Given the description of an element on the screen output the (x, y) to click on. 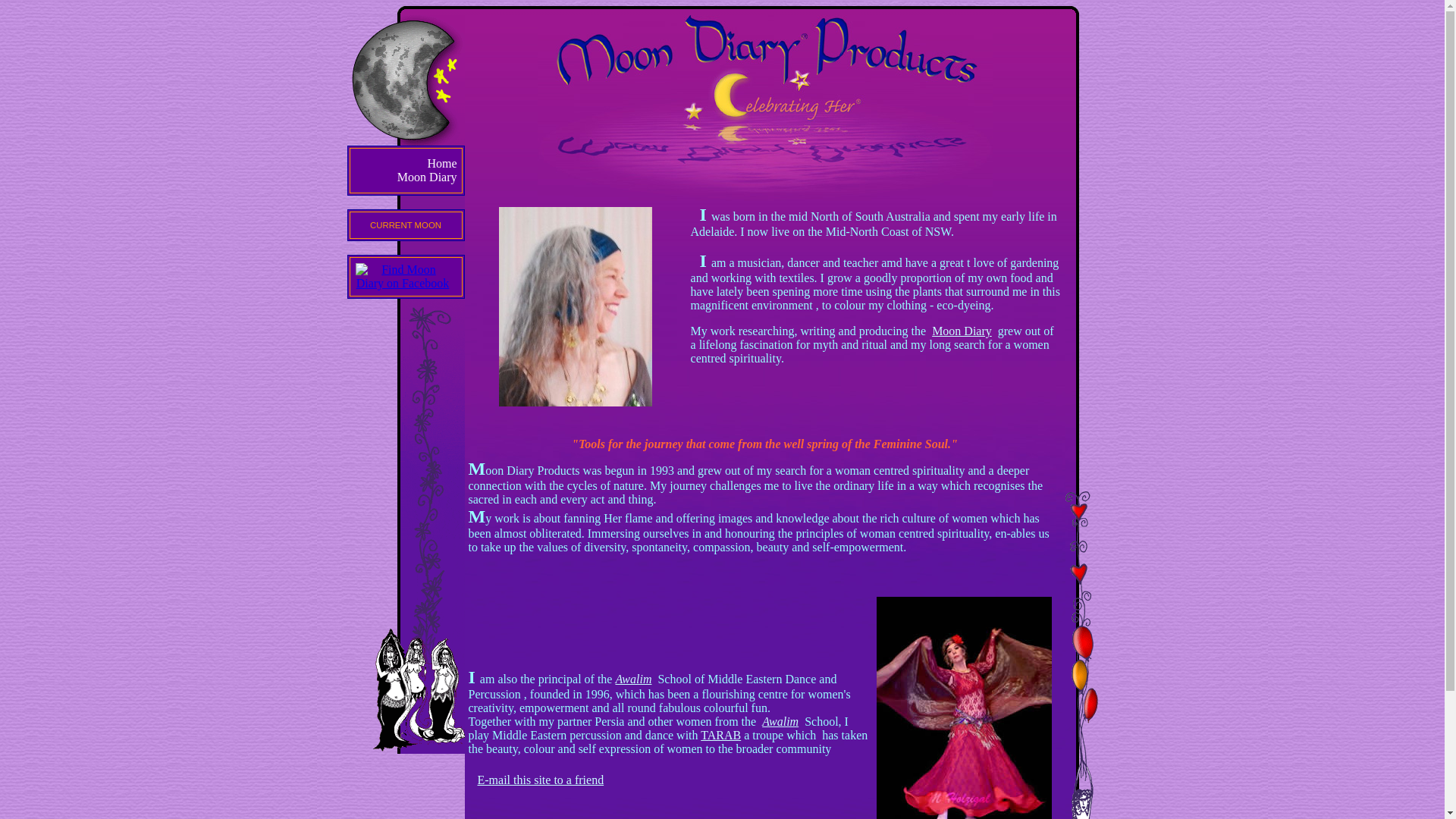
Moon Diary Element type: text (427, 176)
Moon Diary Element type: text (961, 330)
Awalim Element type: text (633, 678)
Home Element type: text (441, 162)
E-mail this site to a friend Element type: text (540, 779)
Moon Diary Products Element type: hover (401, 282)
TARAB Element type: text (720, 734)
Awalim Element type: text (780, 721)
